Given the description of an element on the screen output the (x, y) to click on. 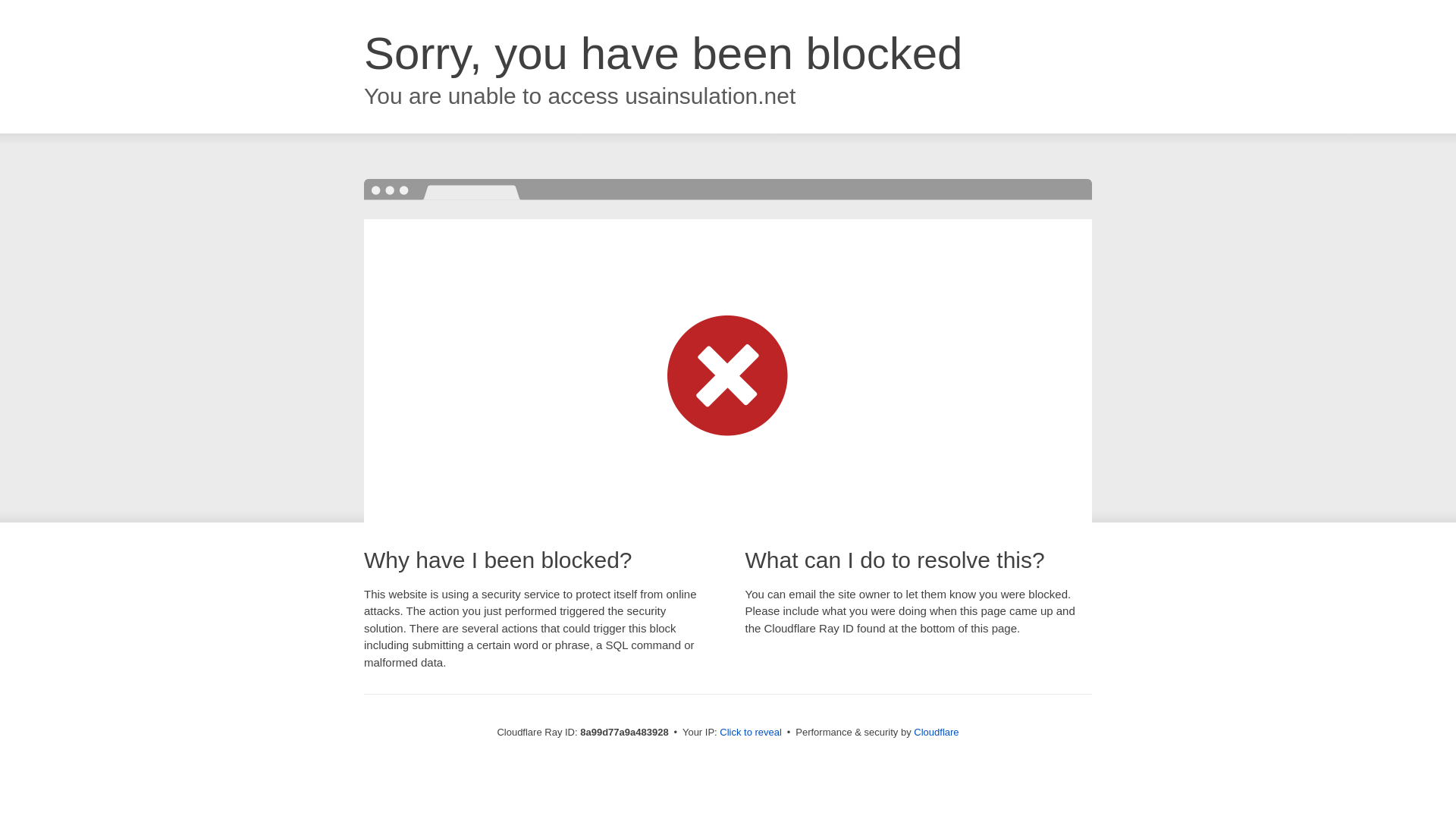
Cloudflare (936, 731)
Click to reveal (750, 732)
